Given the description of an element on the screen output the (x, y) to click on. 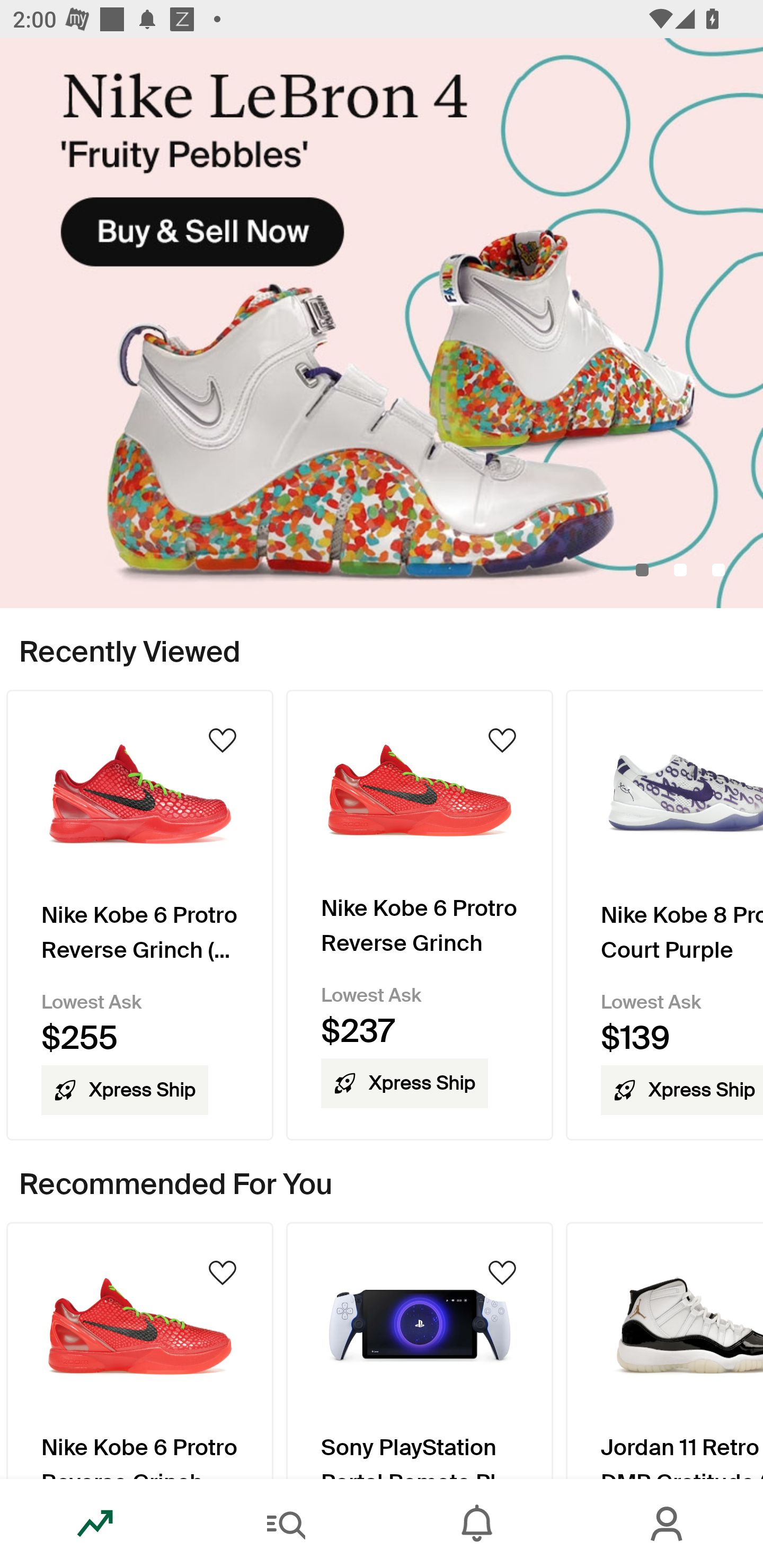
Product Image Nike Kobe 6 Protro Reverse Grinch (139, 1349)
Search (285, 1523)
Inbox (476, 1523)
Account (667, 1523)
